Given the description of an element on the screen output the (x, y) to click on. 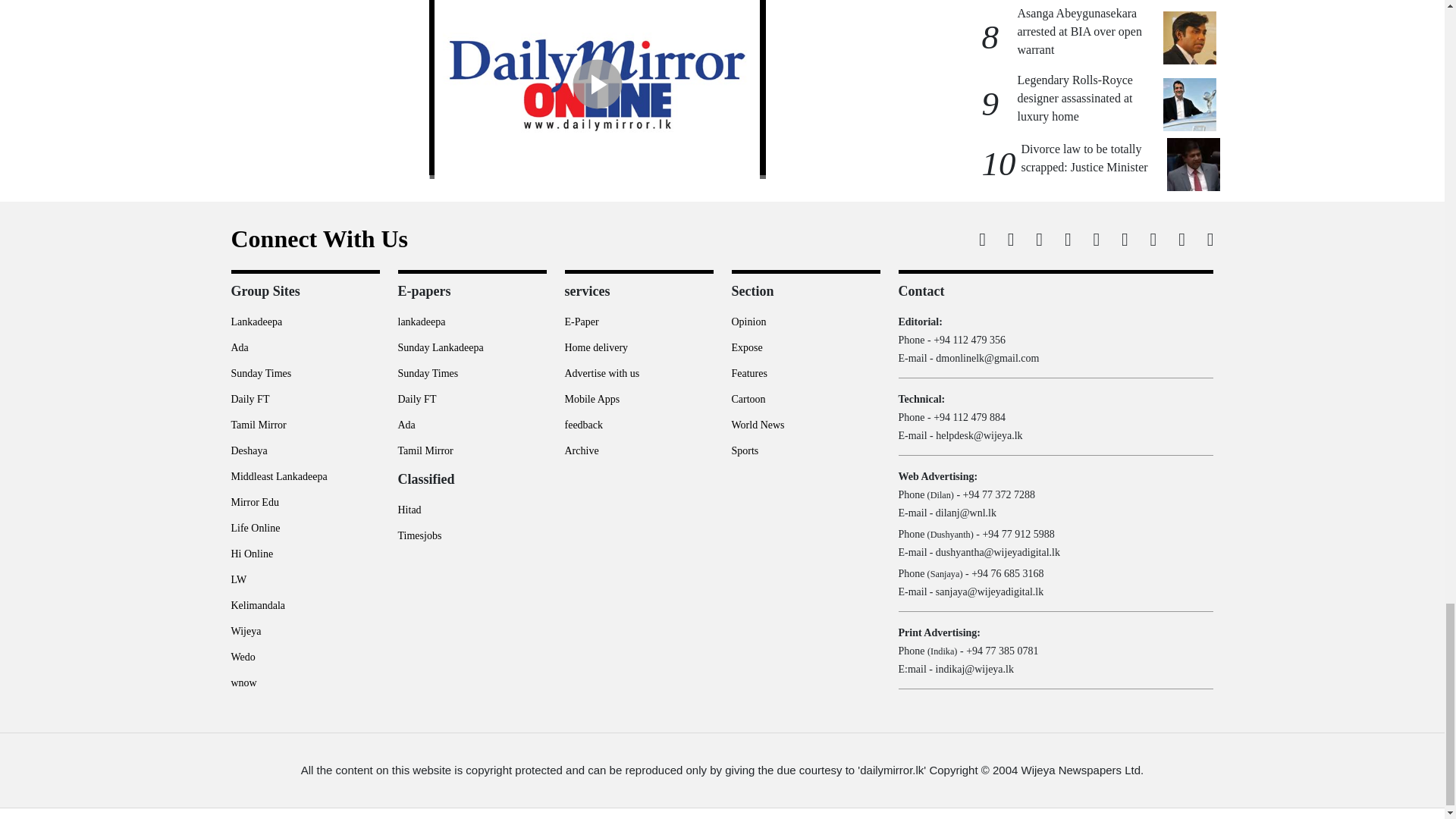
Unmute (648, 165)
Play (596, 83)
